Given the description of an element on the screen output the (x, y) to click on. 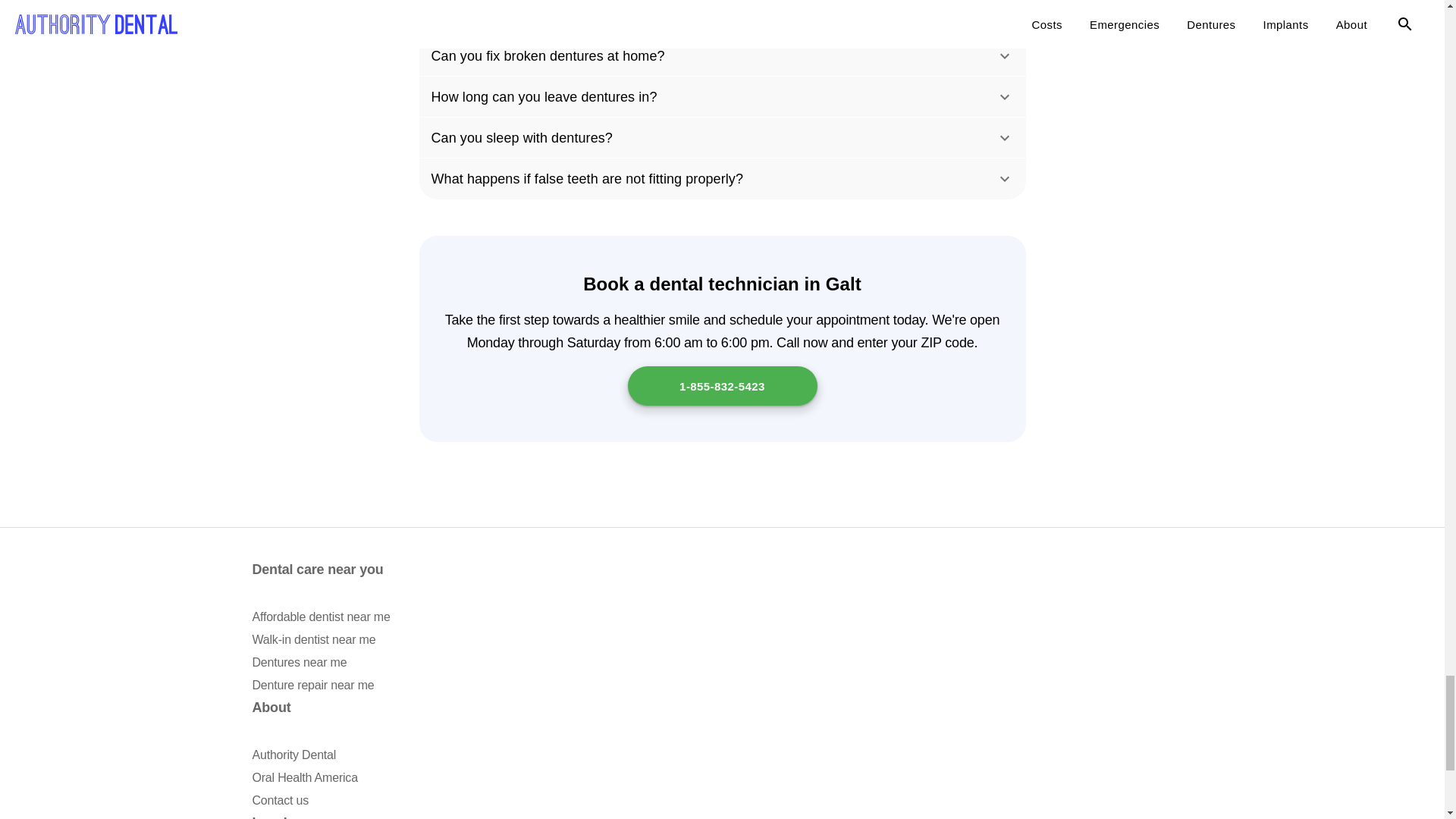
Authority Dental (293, 754)
Oral Health America (303, 777)
Walk-in dentist near me (313, 639)
Affordable dentist near me (320, 616)
Dentures near me (298, 662)
Contact us (279, 799)
Denture repair near me (312, 684)
1-855-832-5423 (721, 385)
